Given the description of an element on the screen output the (x, y) to click on. 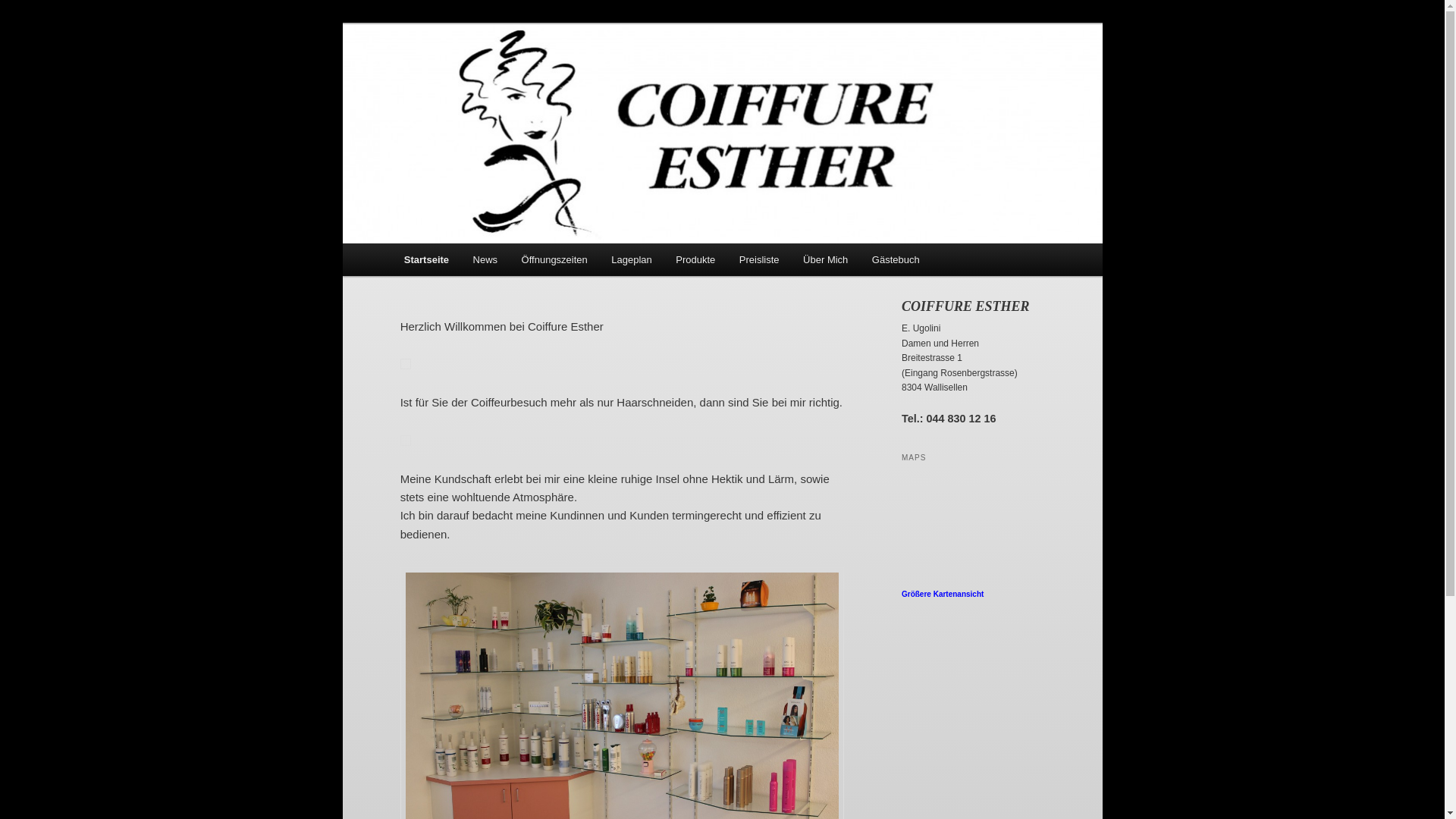
Lageplan Element type: text (631, 259)
Produkte Element type: text (696, 259)
Startseite Element type: text (426, 259)
News Element type: text (485, 259)
Preisliste Element type: text (758, 259)
Coiffure Esther Element type: text (482, 78)
Zum Inhalt wechseln Element type: text (414, 243)
